Given the description of an element on the screen output the (x, y) to click on. 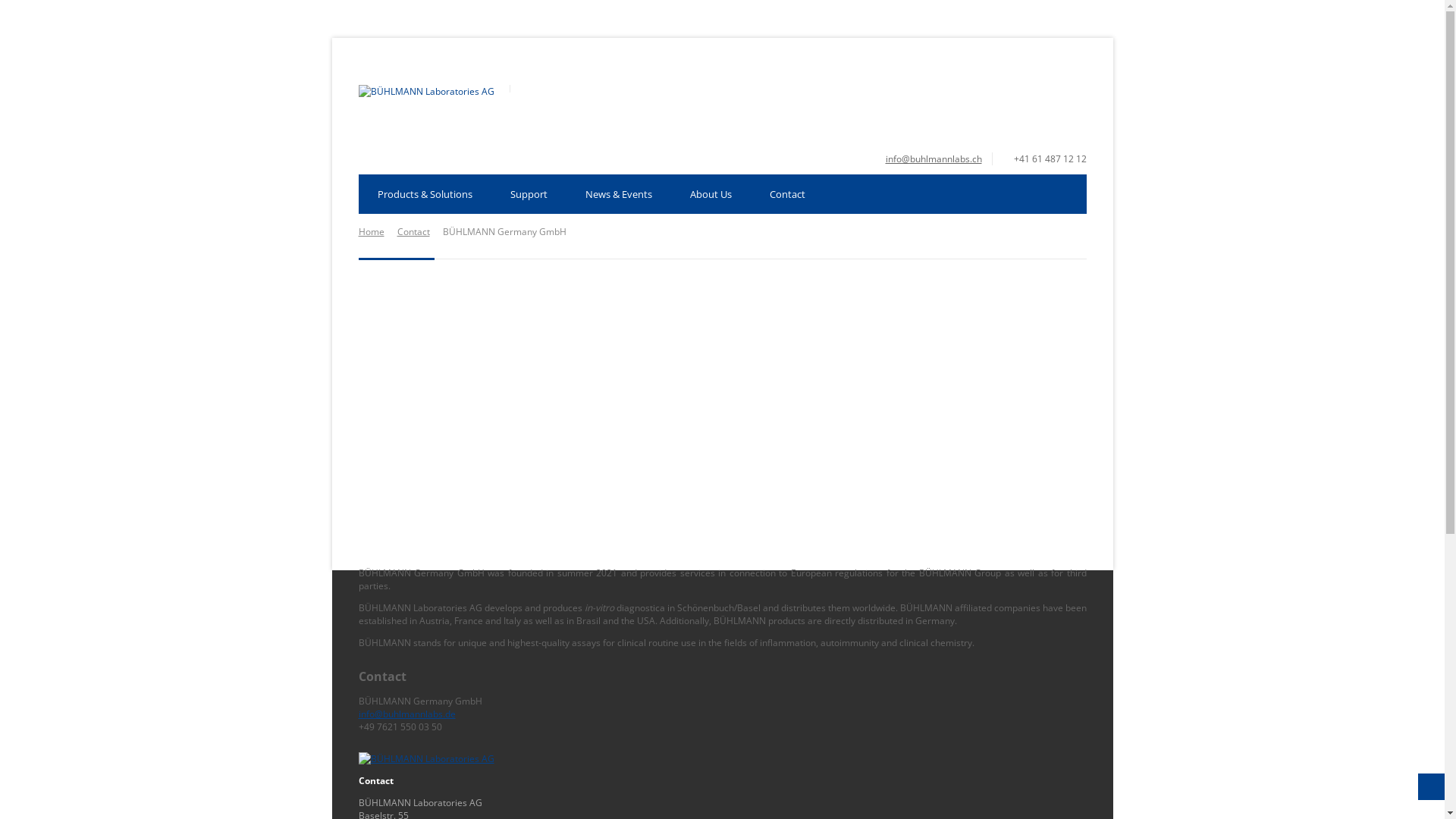
Products & Solutions Element type: text (423, 193)
info@buhlmannlabs.ch Element type: text (933, 158)
Contact Element type: text (787, 193)
News & Events Element type: text (617, 193)
Open Cookie Preferences Element type: hover (33, 799)
info@buhlmannlabs.de Element type: text (406, 713)
Contact Element type: text (413, 231)
Support Element type: text (528, 193)
About Us Element type: text (709, 193)
Home Element type: text (370, 231)
